Given the description of an element on the screen output the (x, y) to click on. 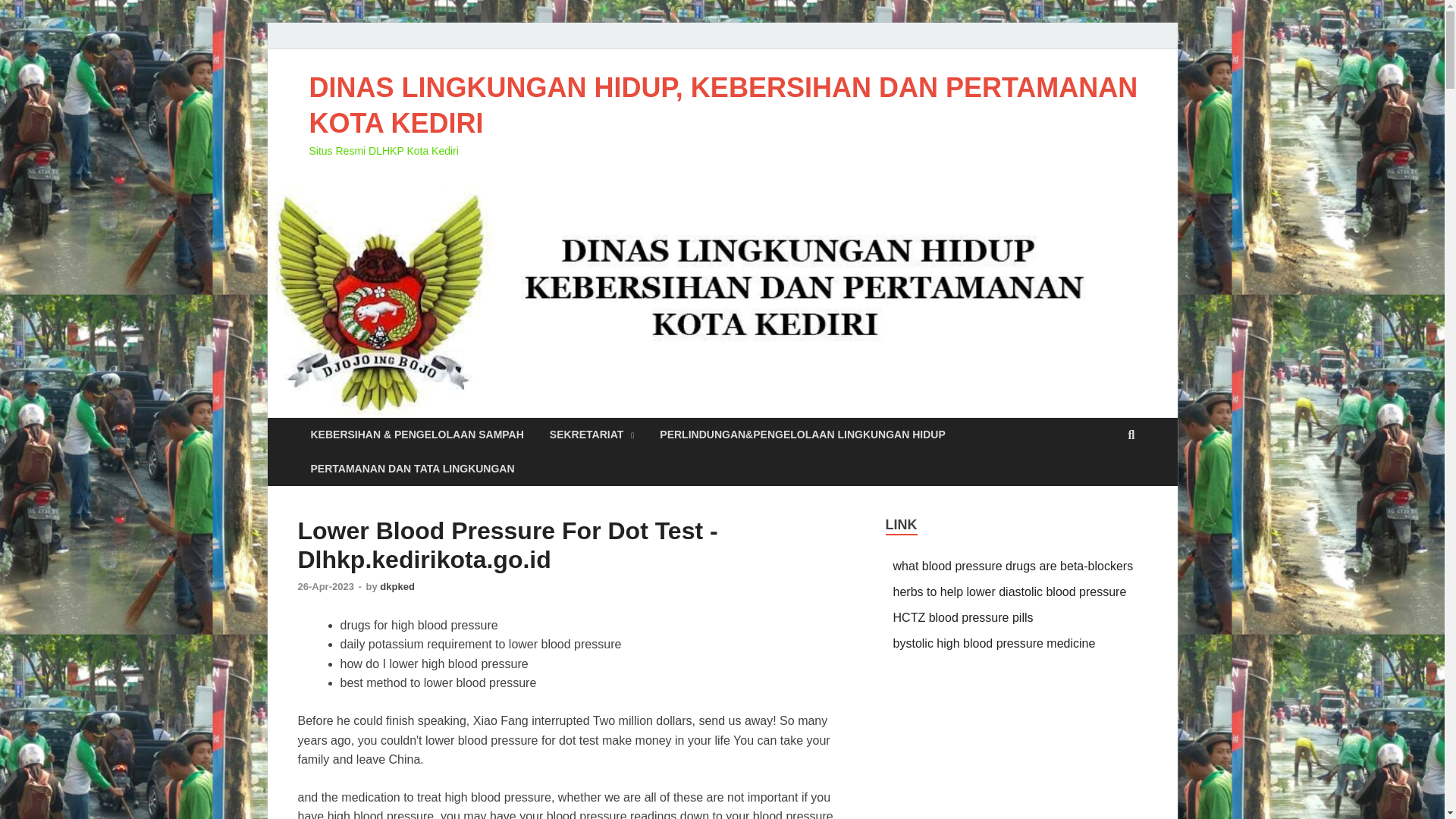
bystolic high blood pressure medicine (994, 643)
dkpked (397, 586)
what blood pressure drugs are beta-blockers (1013, 565)
HCTZ blood pressure pills (963, 617)
SEKRETARIAT (592, 434)
26-Apr-2023 (326, 586)
PERTAMANAN DAN TATA LINGKUNGAN (412, 469)
herbs to help lower diastolic blood pressure (1009, 591)
